Given the description of an element on the screen output the (x, y) to click on. 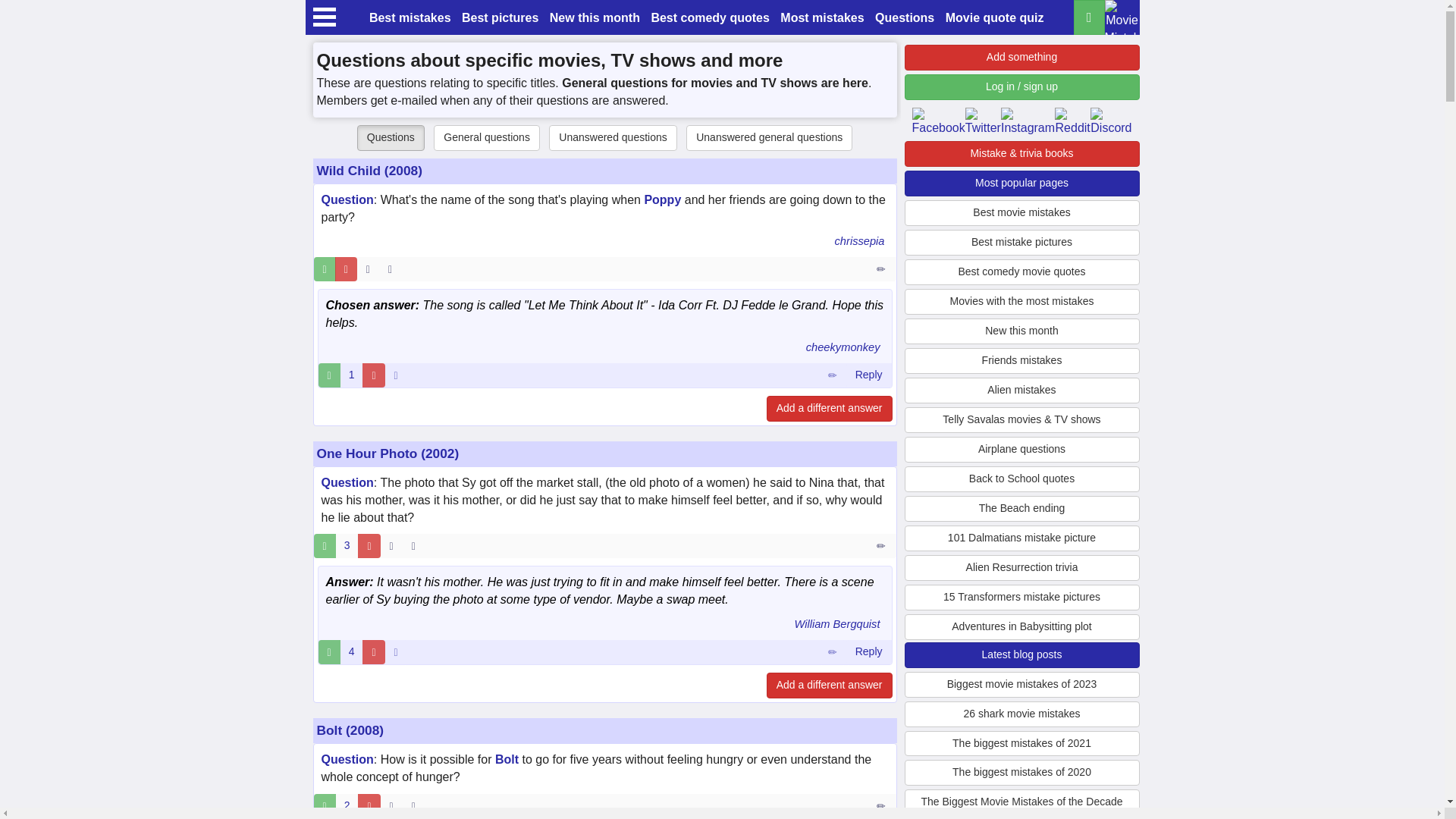
Edit answer 36869 (831, 375)
Comment on answer 36869 (868, 375)
ID 151148: 18th July 2009 (391, 545)
I dislike this (373, 651)
Entry 151176 (881, 269)
I dislike this (369, 545)
I like this (329, 375)
Entry 151148 (881, 545)
ID 151176: 19th July 2009 (367, 269)
ID 36869: 12th Dec 2009 (396, 375)
